Given the description of an element on the screen output the (x, y) to click on. 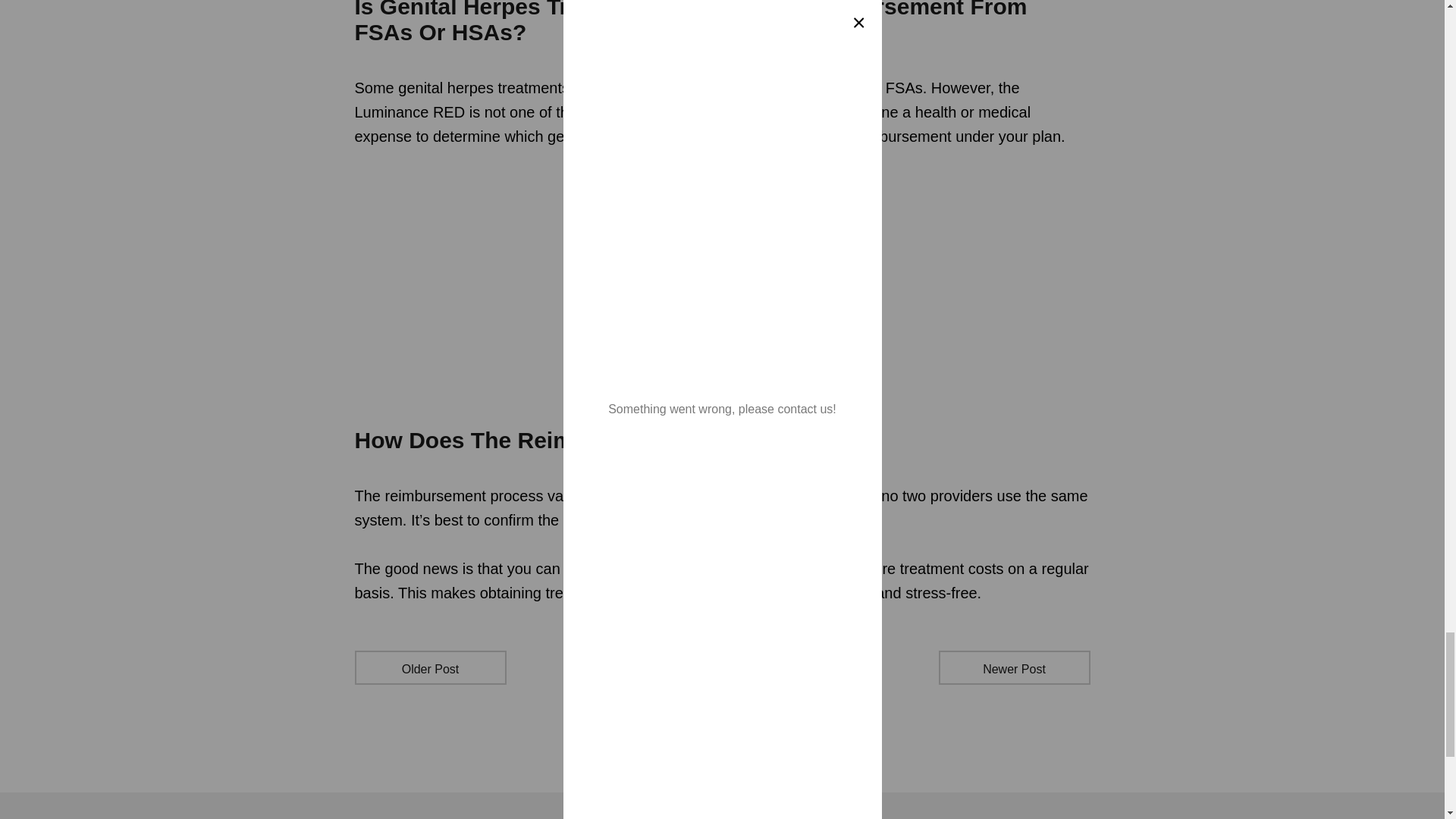
Newer Post (1014, 667)
Red Light Therapy for Genital Herpes (722, 182)
Older Post (430, 667)
Luminance RED for Genital Herpes (722, 386)
Red Light Treatment for Genital Herpes (722, 284)
ORDER NOW (722, 386)
